Given the description of an element on the screen output the (x, y) to click on. 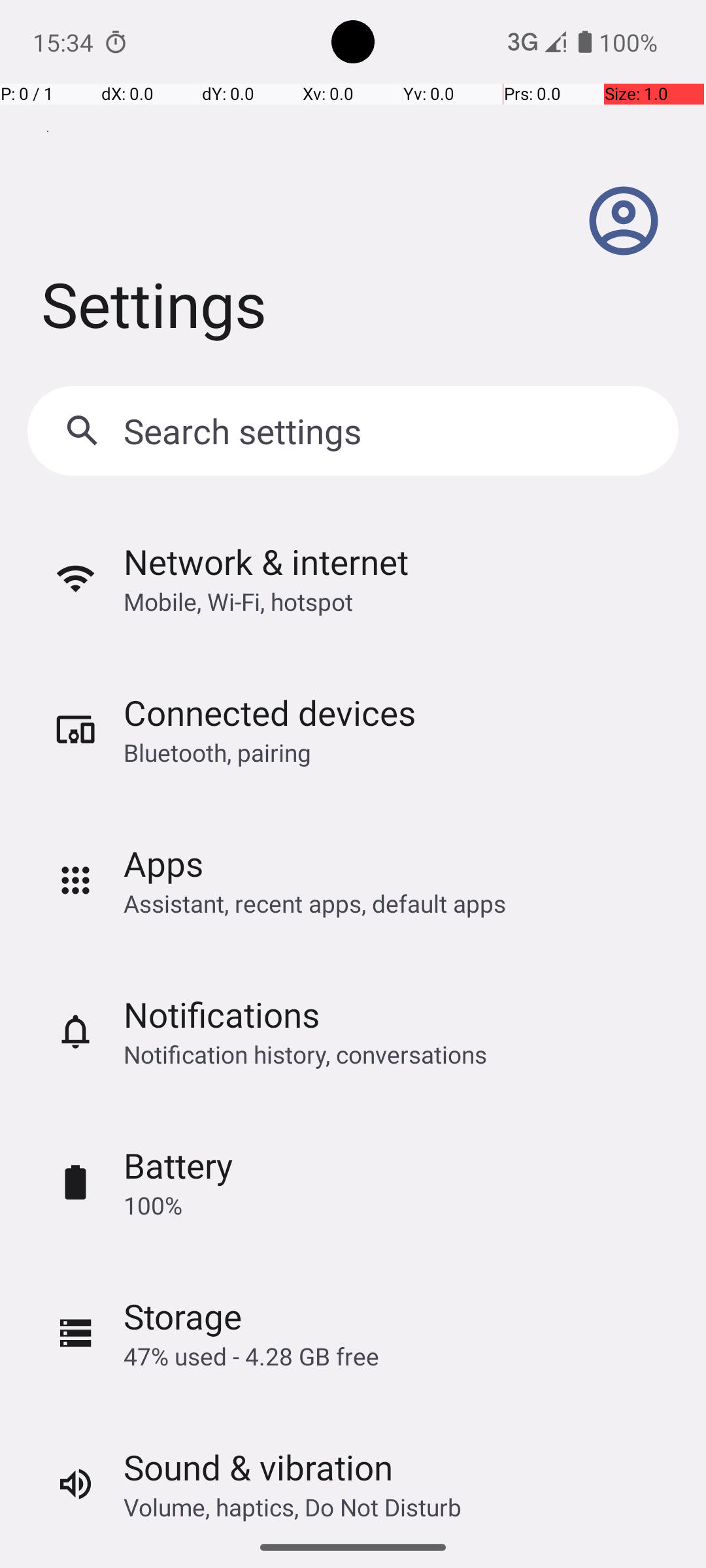
47% used - 4.28 GB free Element type: android.widget.TextView (251, 1355)
